Given the description of an element on the screen output the (x, y) to click on. 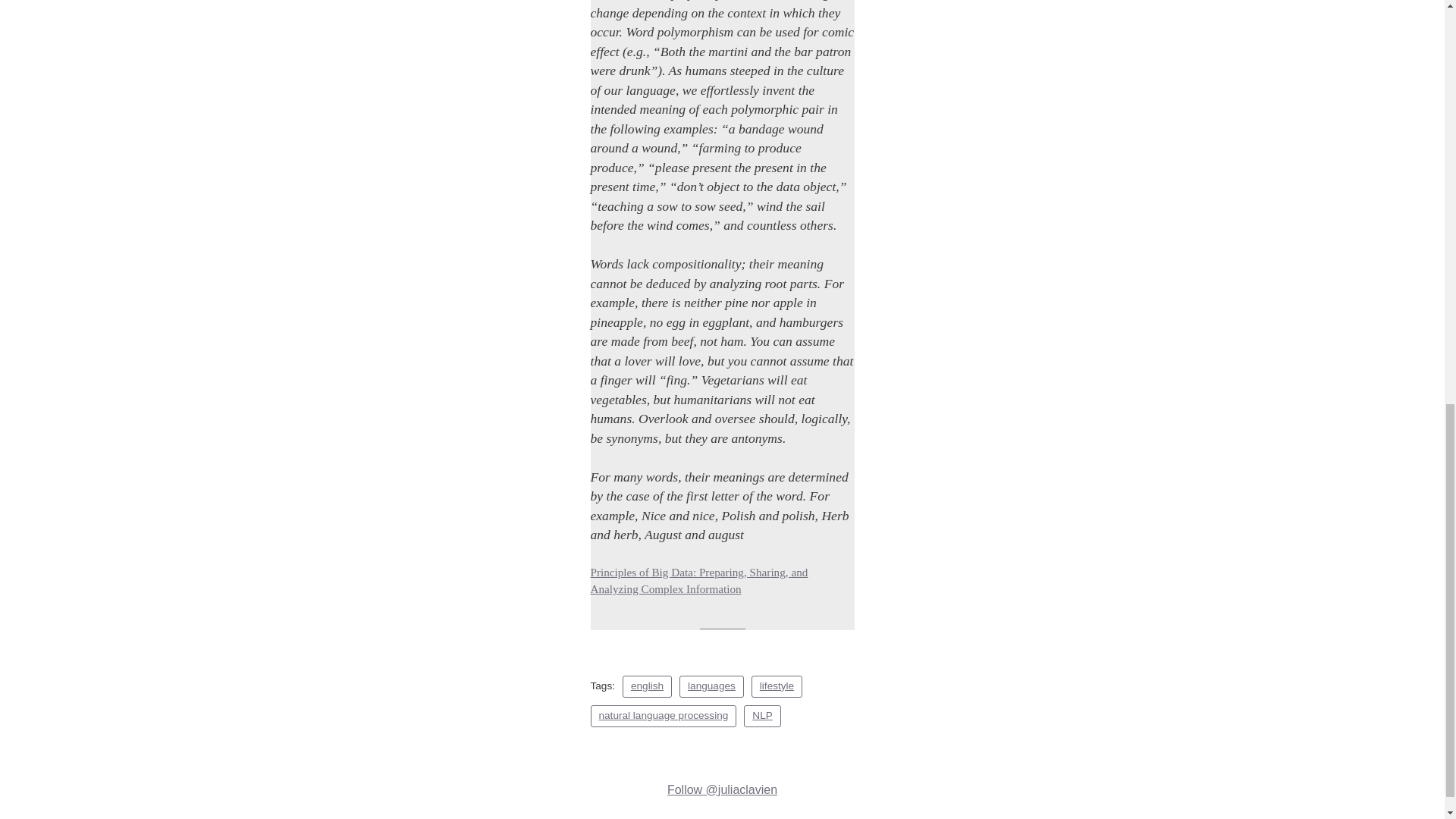
lifestyle (776, 686)
natural language processing (662, 716)
languages (711, 686)
english (647, 686)
NLP (762, 716)
languages (711, 686)
english (647, 686)
NLP (762, 716)
lifestyle (776, 686)
natural language processing (662, 716)
